Given the description of an element on the screen output the (x, y) to click on. 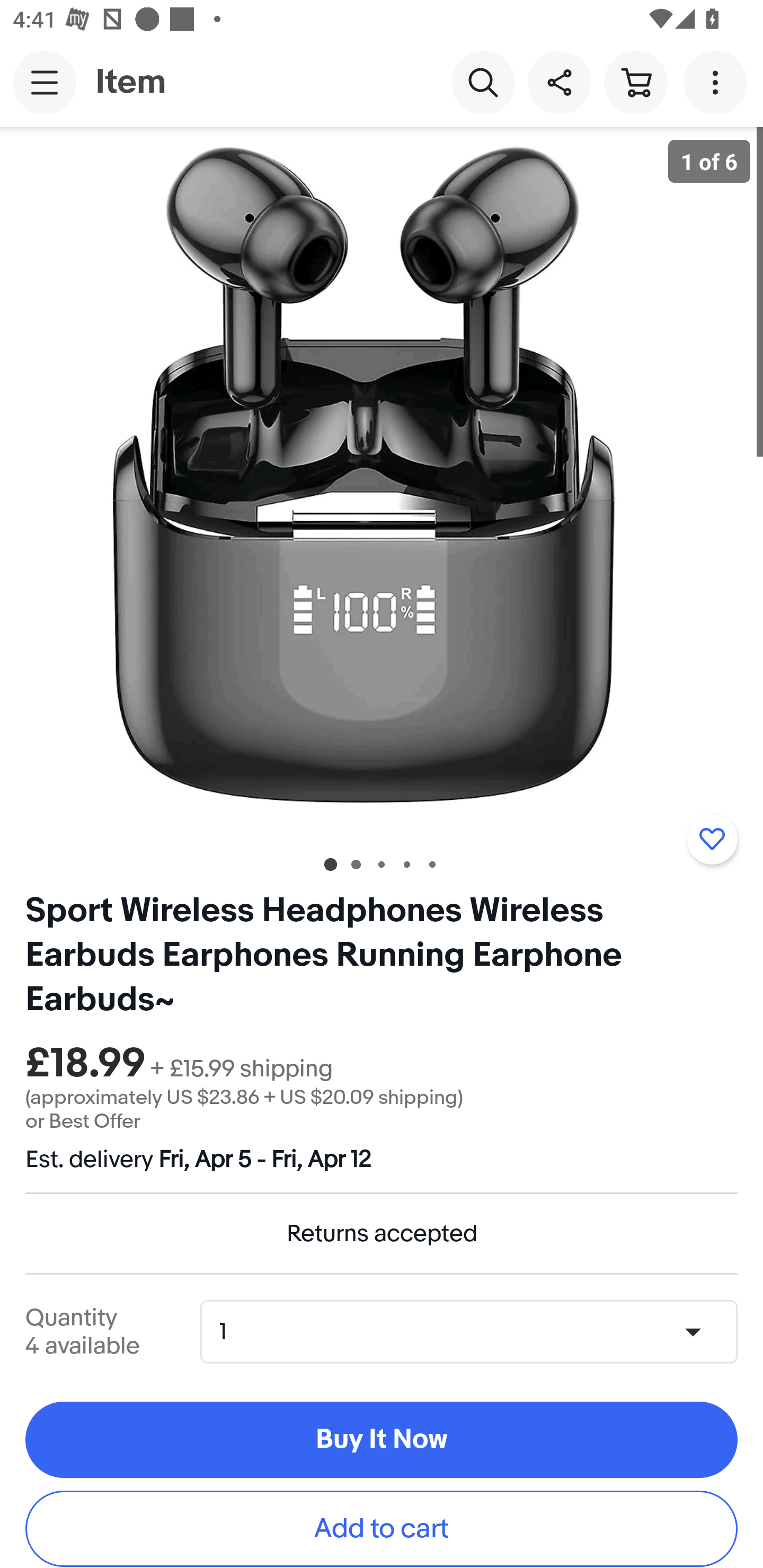
Main navigation, open (44, 82)
Search (482, 81)
Share this item (559, 81)
Cart button shopping cart (635, 81)
More options (718, 81)
Item image 1 of 6 (381, 482)
Add to watchlist (711, 838)
Quantity,1,4 available 1 (474, 1331)
Buy It Now (381, 1439)
Add to cart (381, 1528)
